Given the description of an element on the screen output the (x, y) to click on. 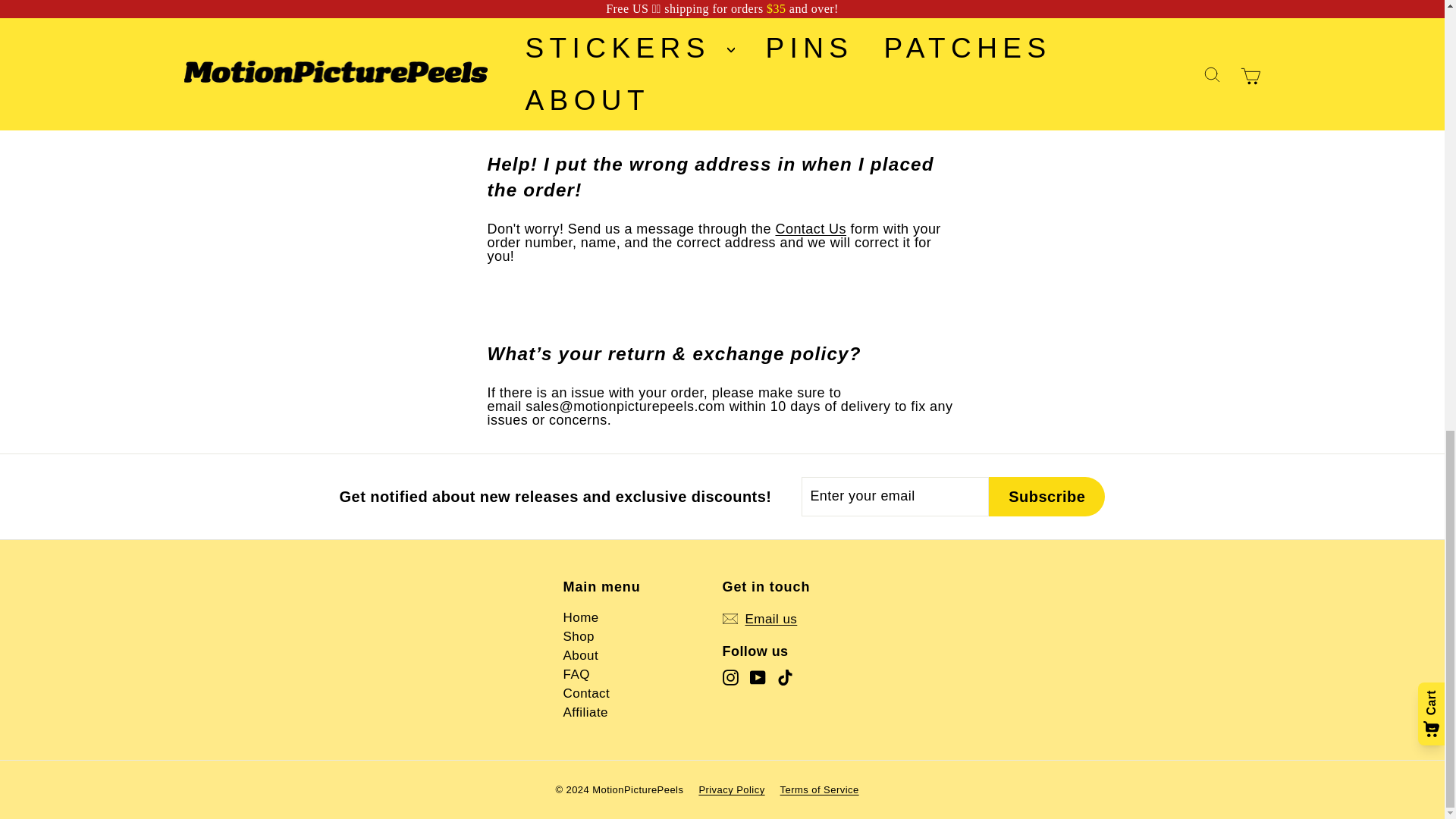
Subscribe (1046, 496)
Contact (586, 692)
MotionPicturePeels on Instagram (730, 677)
Contact Us (809, 228)
Shop (578, 636)
Privacy Policy (738, 789)
Email us (759, 618)
Terms of Service (827, 789)
instagram (730, 677)
Home (580, 617)
YouTube (757, 677)
About (580, 655)
FAQ (575, 674)
TikTok (784, 677)
MotionPicturePeels on YouTube (757, 677)
